Given the description of an element on the screen output the (x, y) to click on. 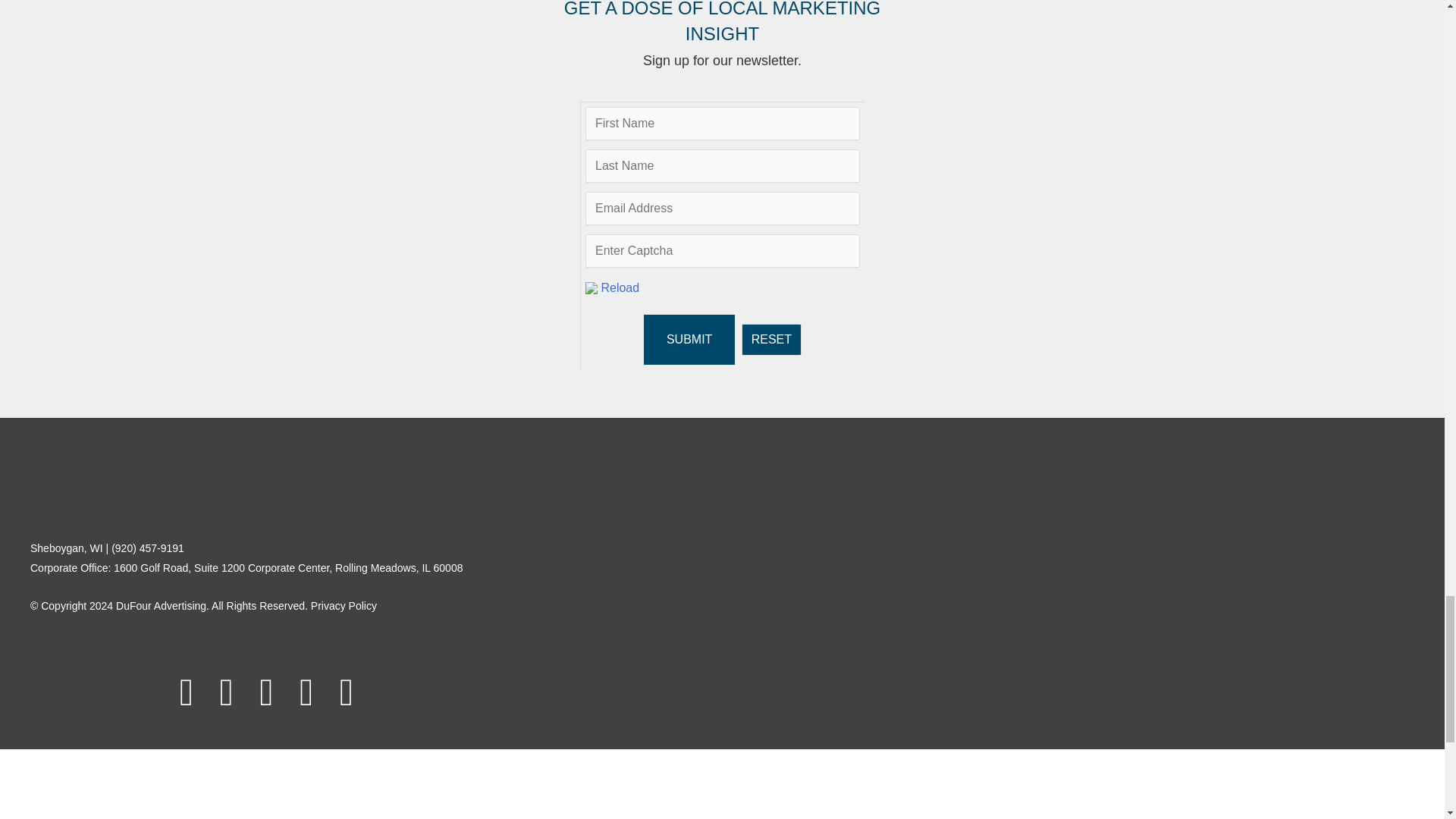
Submit (689, 339)
Privacy Policy (344, 605)
Reload (619, 287)
Submit (689, 339)
Reset (771, 339)
